Given the description of an element on the screen output the (x, y) to click on. 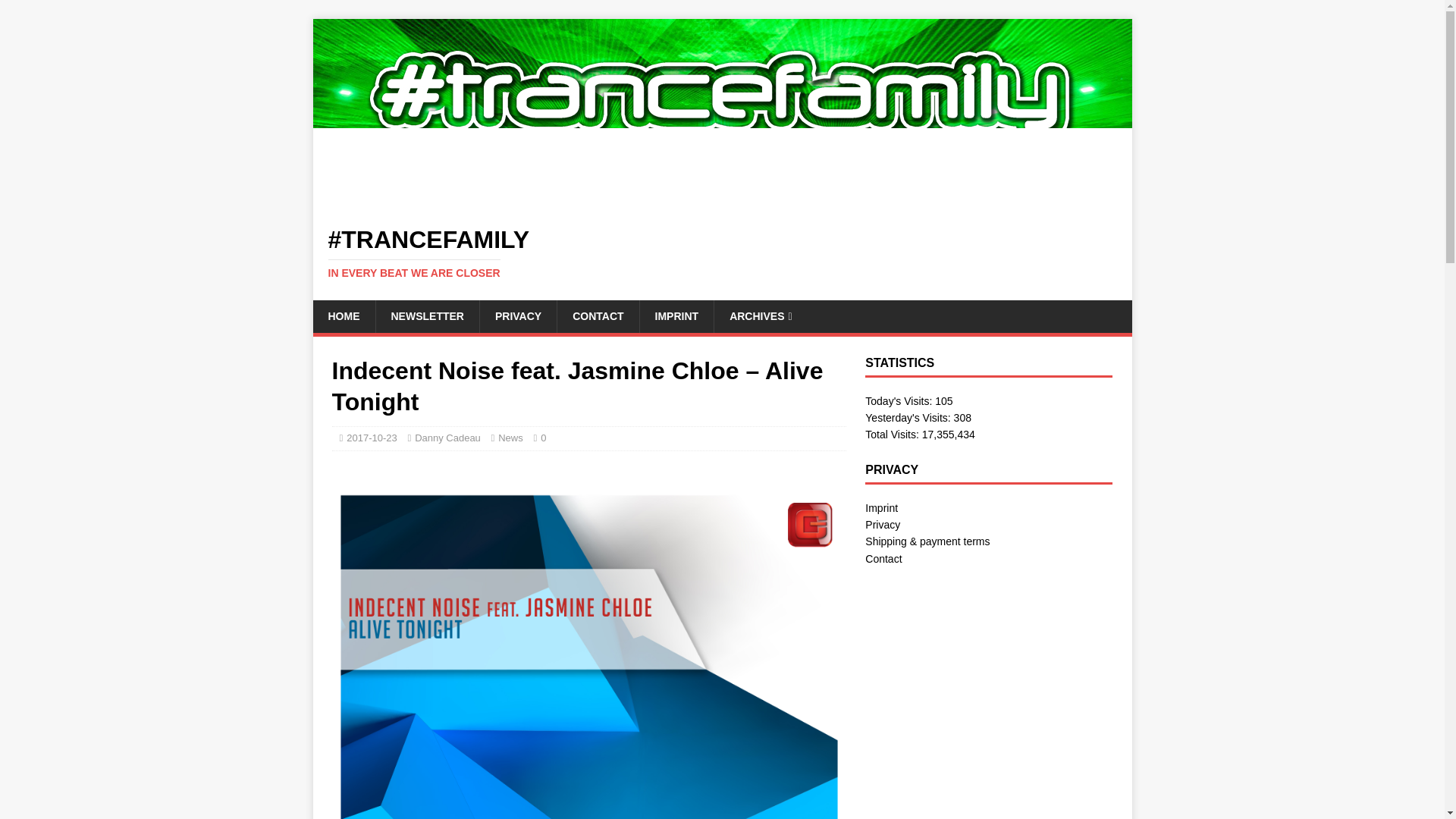
Imprint (881, 508)
PRIVACY (517, 316)
NEWSLETTER (426, 316)
IMPRINT (676, 316)
Privacy (881, 524)
ARCHIVES (759, 316)
Contact (882, 558)
CONTACT (597, 316)
HOME (343, 316)
